Given the description of an element on the screen output the (x, y) to click on. 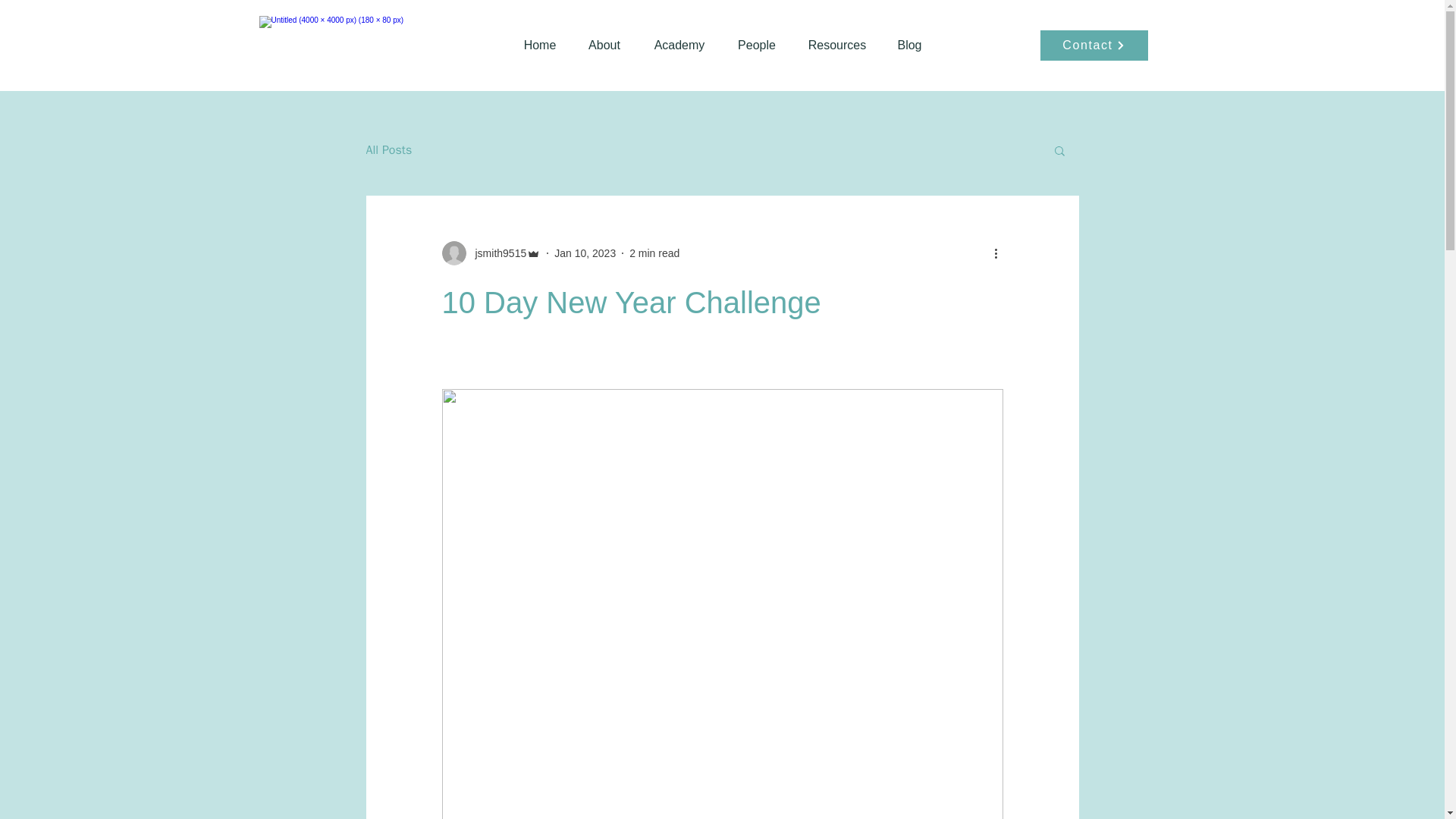
Blog (909, 45)
Resources (837, 45)
About (604, 45)
jsmith9515 (495, 253)
Contact (1094, 45)
Home (539, 45)
People (757, 45)
jsmith9515 (490, 252)
Jan 10, 2023 (584, 253)
2 min read (653, 253)
Academy (678, 45)
All Posts (388, 150)
